Given the description of an element on the screen output the (x, y) to click on. 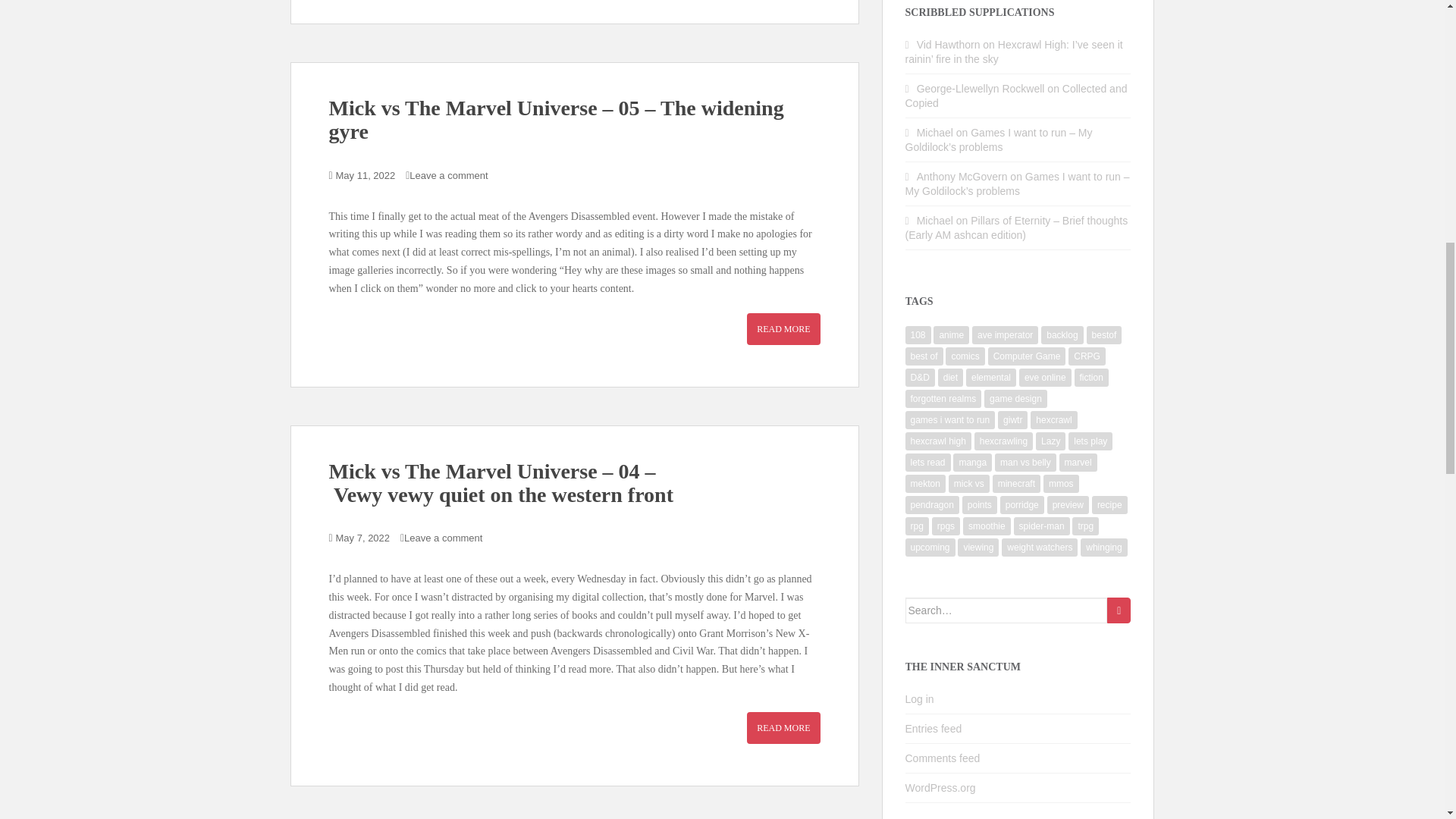
Leave a comment (442, 537)
READ MORE (782, 327)
May 11, 2022 (366, 174)
Search for: (1006, 610)
Leave a comment (448, 174)
READ MORE (782, 727)
May 7, 2022 (363, 537)
